Given the description of an element on the screen output the (x, y) to click on. 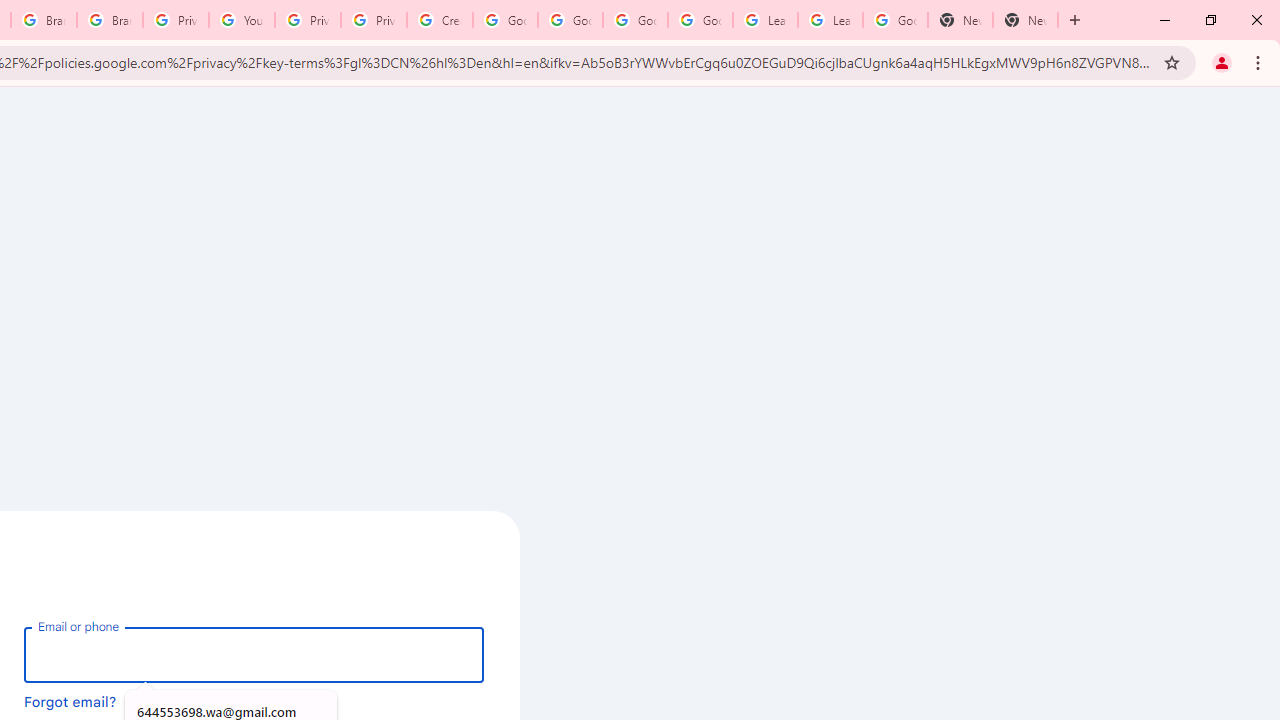
Chrome (1260, 62)
Google Account (894, 20)
Google Account Help (504, 20)
New Tab (1025, 20)
Restore (1210, 20)
Email or phone (253, 654)
New Tab (1075, 20)
Google Account Help (635, 20)
Bookmark this tab (1171, 62)
Google Account Help (700, 20)
Create your Google Account (440, 20)
